Given the description of an element on the screen output the (x, y) to click on. 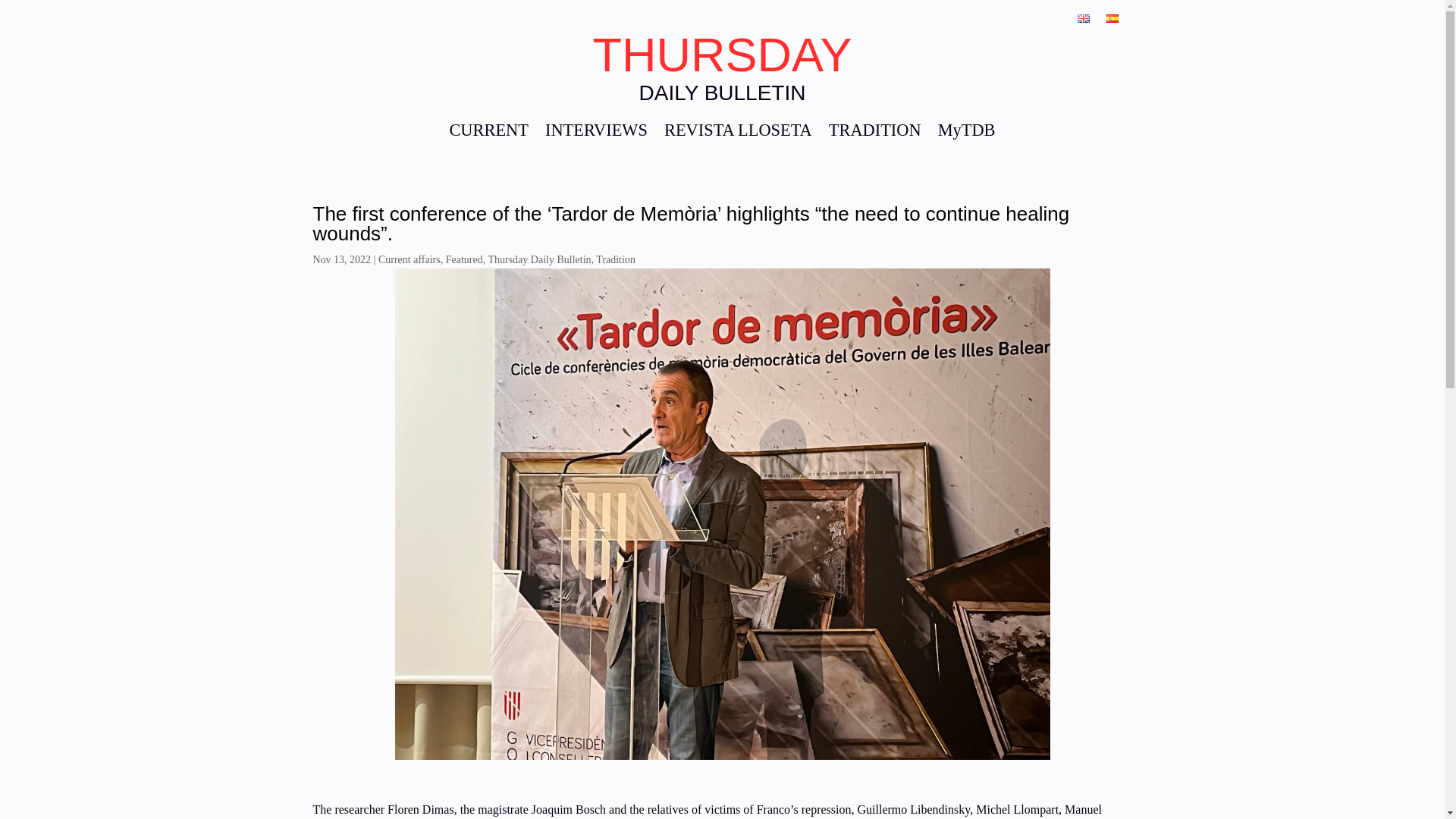
CURRENT (488, 133)
INTERVIEWS (595, 133)
THURSDAY (721, 54)
MyTDB (966, 133)
Featured (464, 259)
THURSDAY (721, 54)
Tradition (614, 259)
REVISTA LLOSETA (737, 133)
Thursday Daily Bulletin (539, 259)
TRADITION (874, 133)
